Given the description of an element on the screen output the (x, y) to click on. 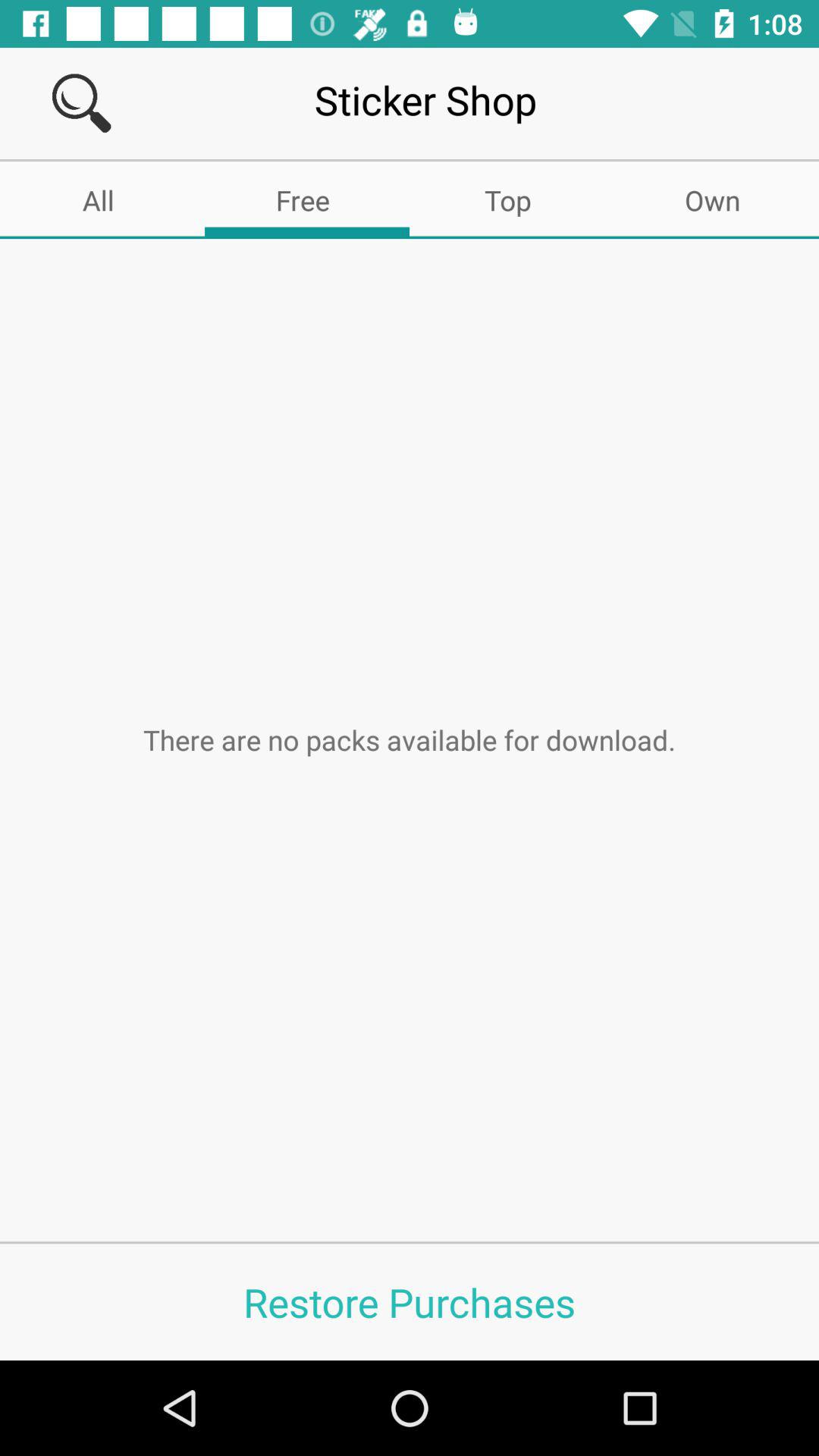
search (81, 103)
